Given the description of an element on the screen output the (x, y) to click on. 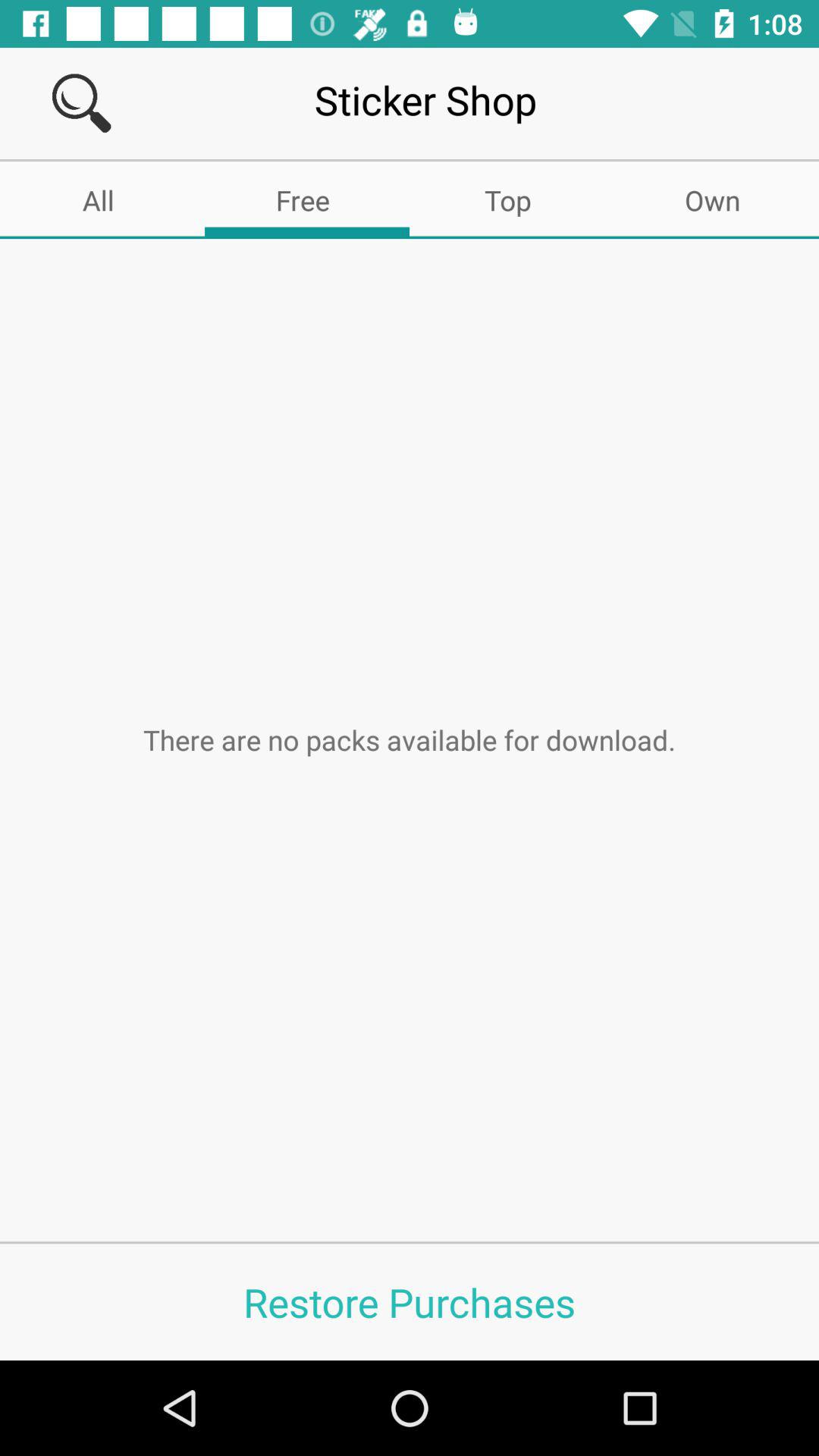
search (81, 103)
